Given the description of an element on the screen output the (x, y) to click on. 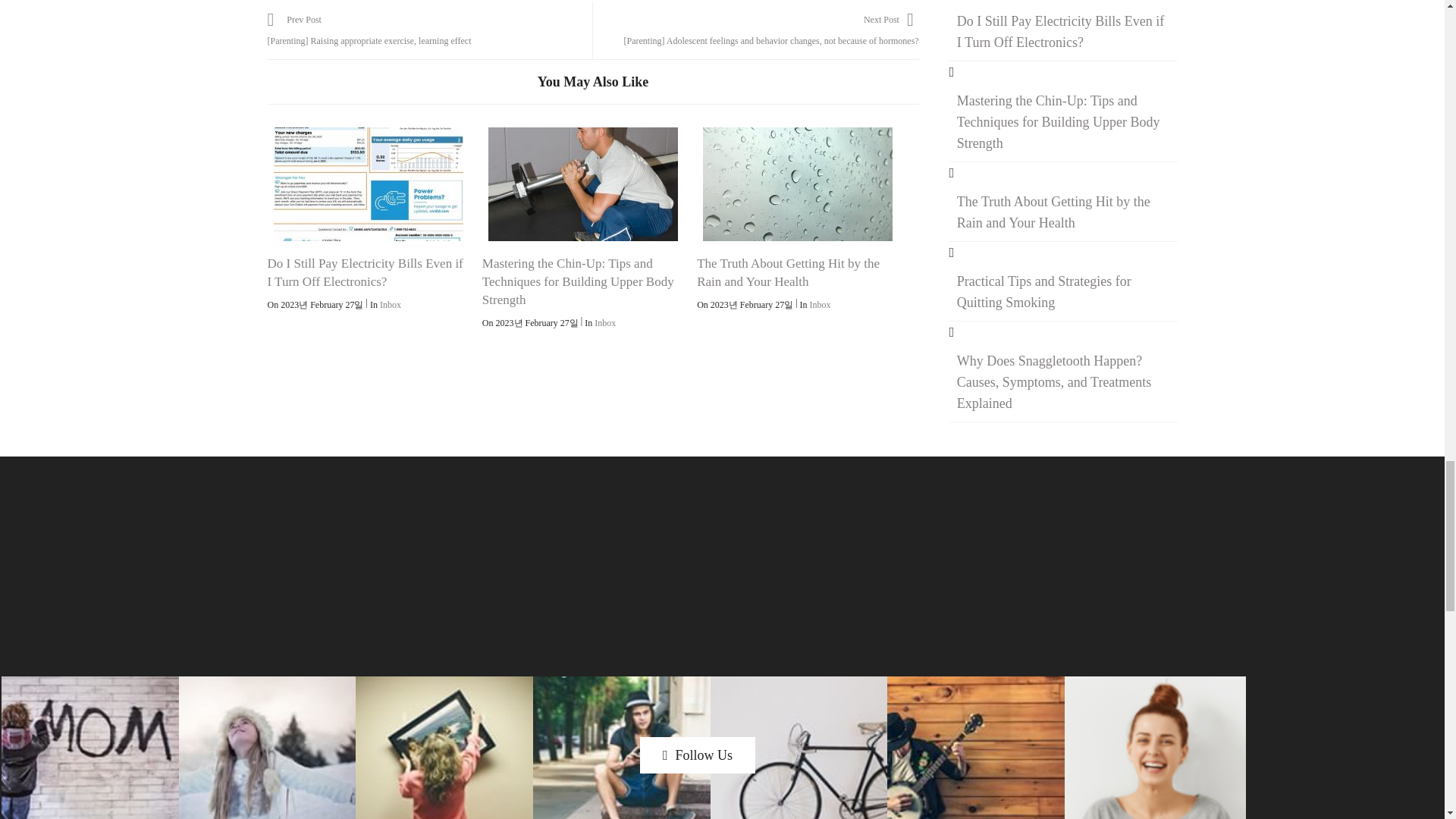
The Truth About Getting Hit by the Rain and Your Health (797, 183)
Inbox (604, 322)
Inbox (390, 304)
The Truth About Getting Hit by the Rain and Your Health (788, 272)
Inbox (820, 304)
